Given the description of an element on the screen output the (x, y) to click on. 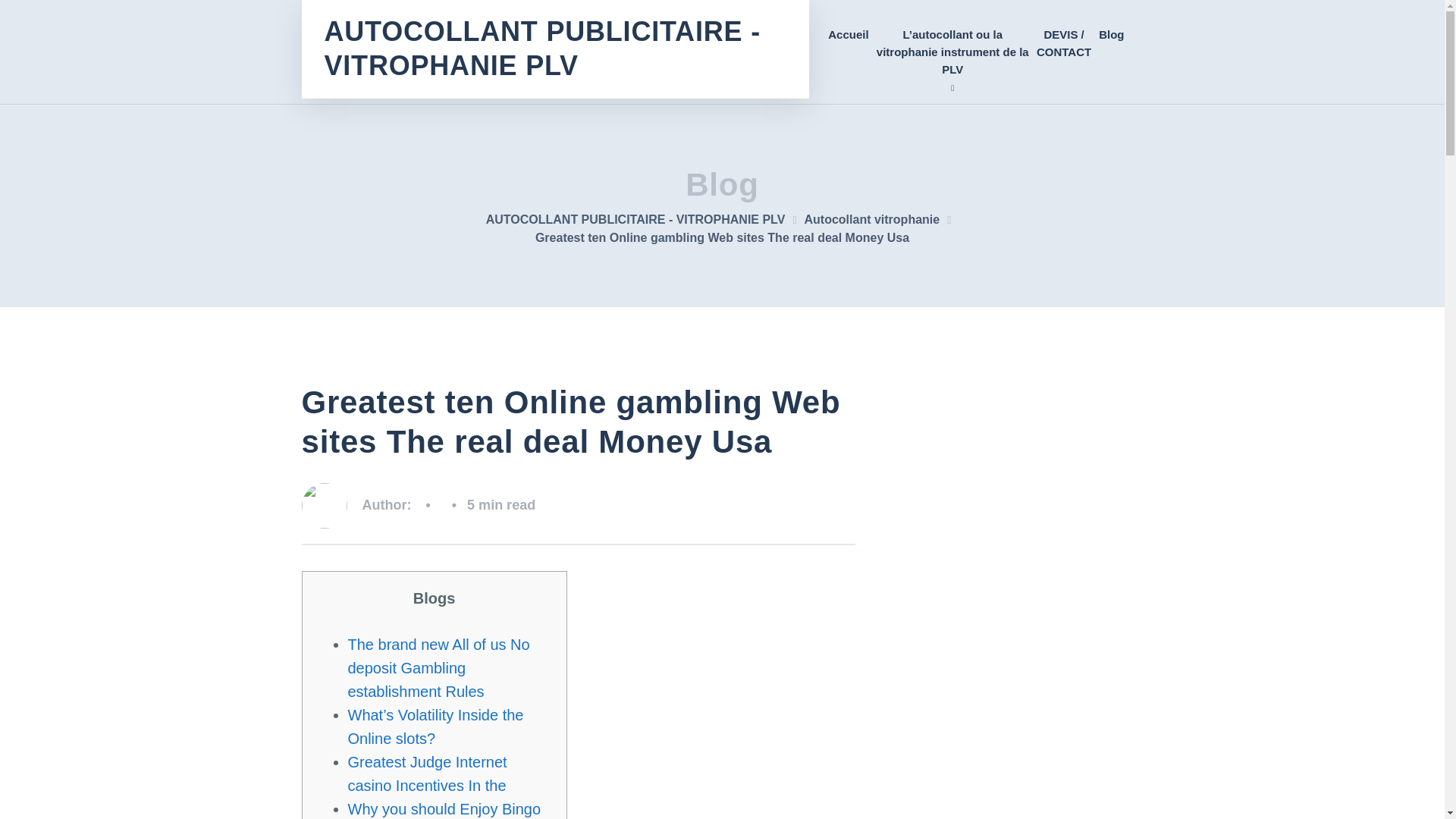
Go to AUTOCOLLANT PUBLICITAIRE - VITROPHANIE PLV. (645, 219)
Autocollant vitrophanie (880, 219)
AUTOCOLLANT PUBLICITAIRE - VITROPHANIE PLV (555, 49)
Greatest Judge Internet casino Incentives In the (426, 773)
Why you should Enjoy Bingo Game Online? (443, 809)
AUTOCOLLANT PUBLICITAIRE - VITROPHANIE PLV (645, 219)
bold (952, 52)
